Given the description of an element on the screen output the (x, y) to click on. 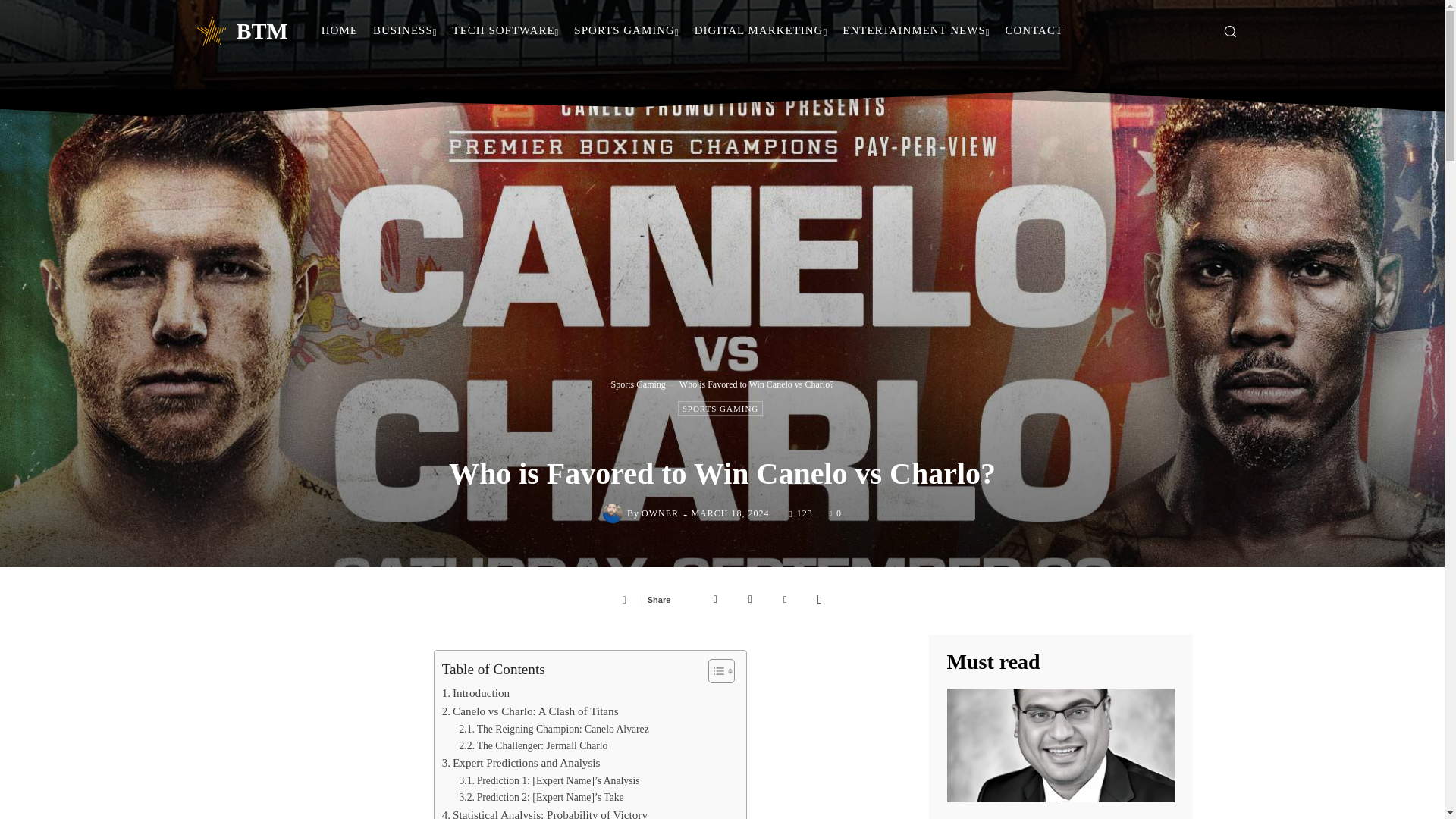
HOME (339, 30)
BUSINESS (405, 30)
TECH SOFTWARE (506, 30)
BTM (239, 30)
